Given the description of an element on the screen output the (x, y) to click on. 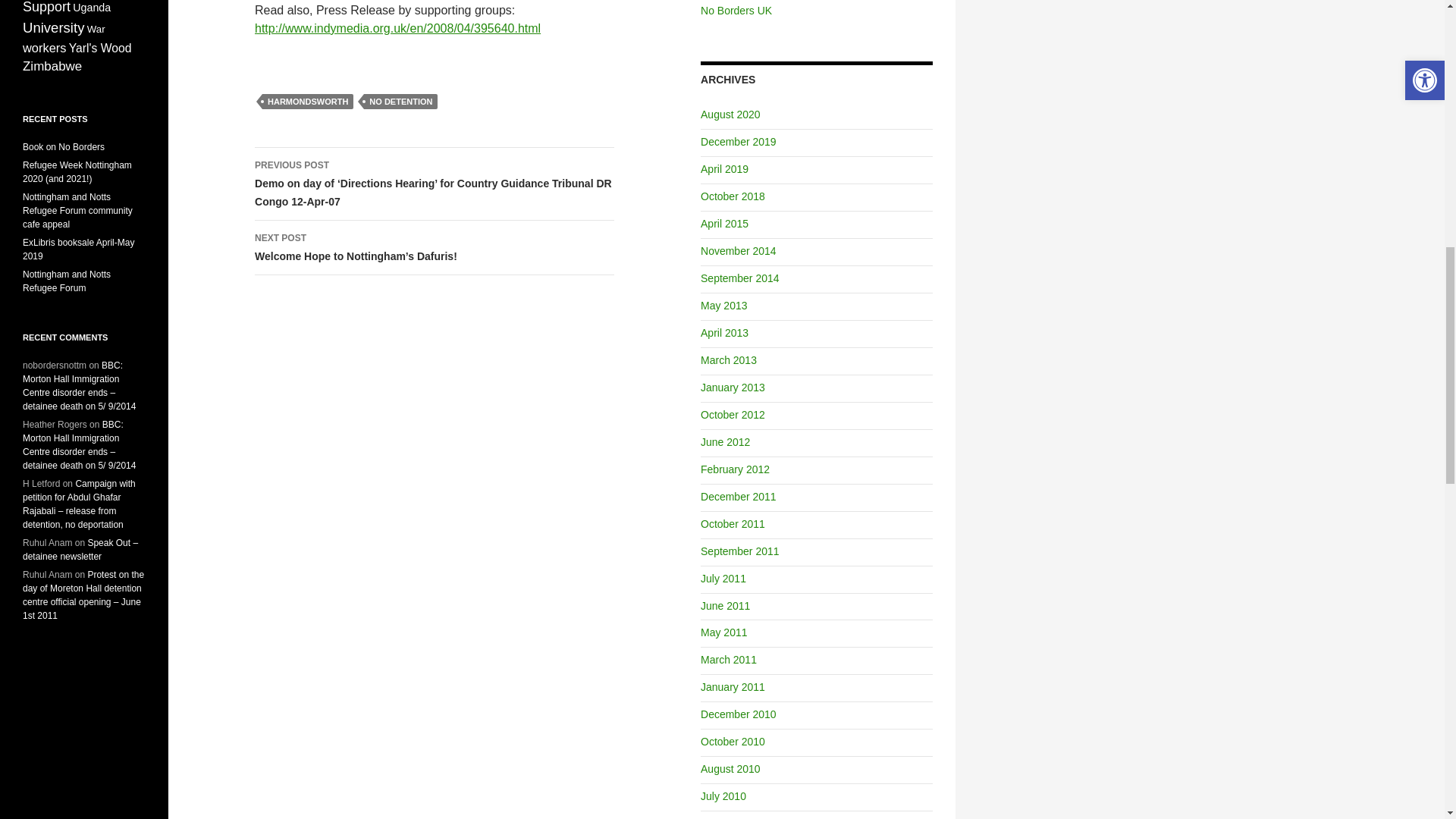
NO DETENTION (401, 101)
April 2019 (724, 168)
April 2015 (724, 223)
No Borders UK (735, 10)
December 2019 (738, 141)
No Borders UK (735, 10)
November 2014 (738, 250)
October 2018 (732, 196)
HARMONDSWORTH (307, 101)
August 2020 (730, 114)
